Given the description of an element on the screen output the (x, y) to click on. 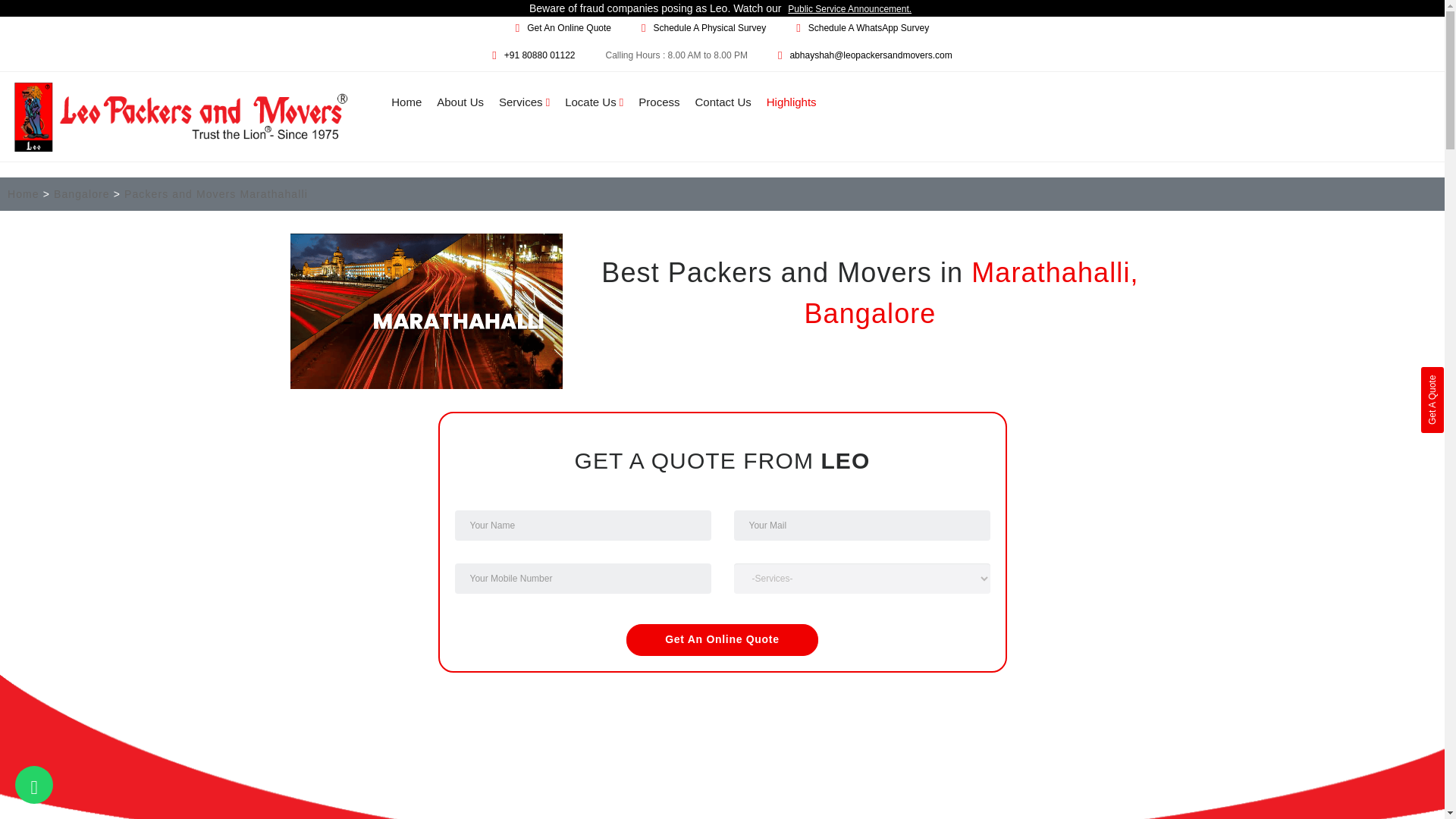
Schedule A WhatsApp Survey (868, 27)
Get An Online Quote (569, 27)
Locate Us (593, 102)
Schedule A Physical Survey (710, 27)
Public Service Announcement. (849, 9)
